Given the description of an element on the screen output the (x, y) to click on. 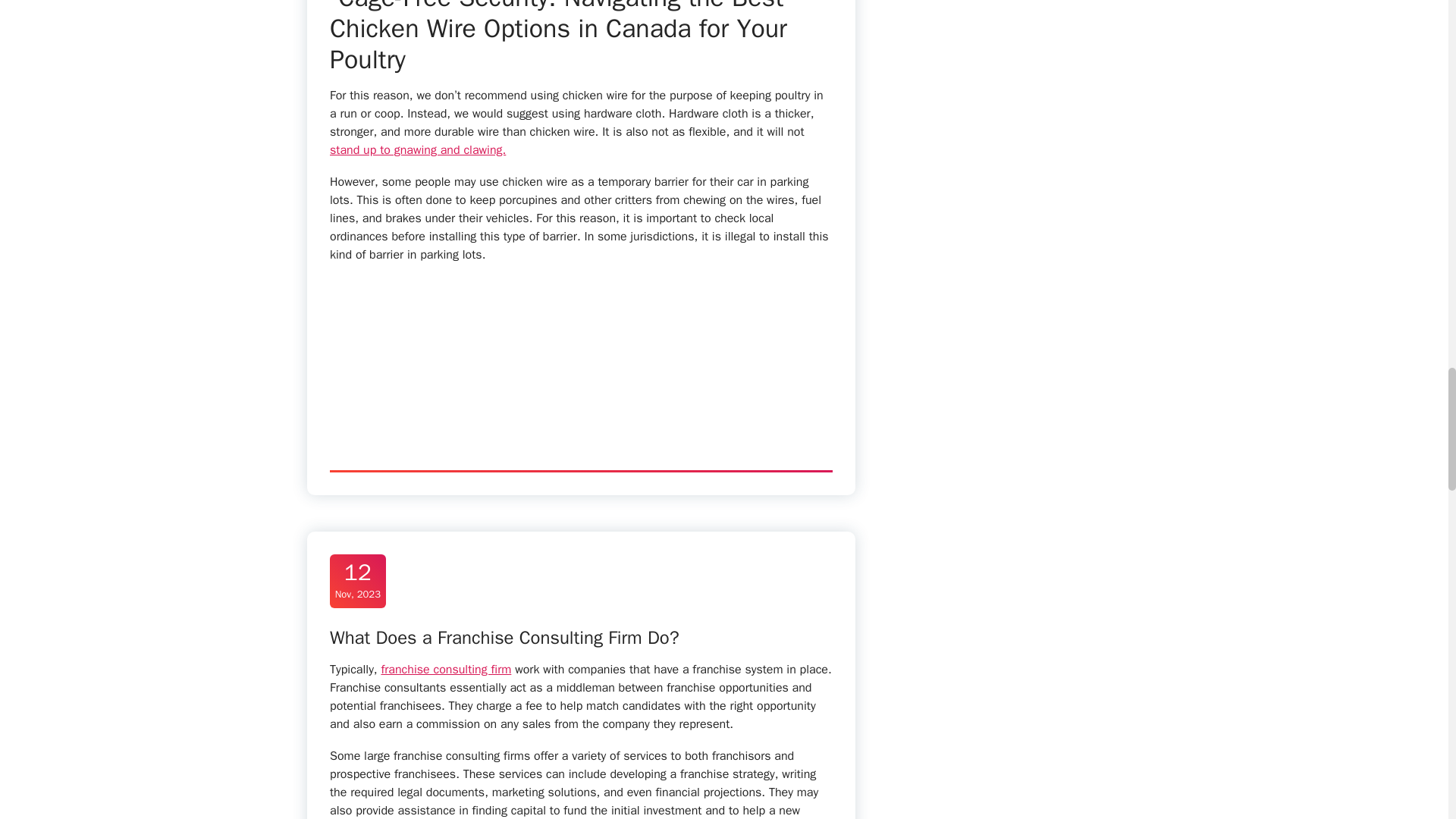
stand up to gnawing and clawing. (417, 150)
franchise consulting firm (445, 669)
What Does a Franchise Consulting Firm Do? (504, 637)
